Given the description of an element on the screen output the (x, y) to click on. 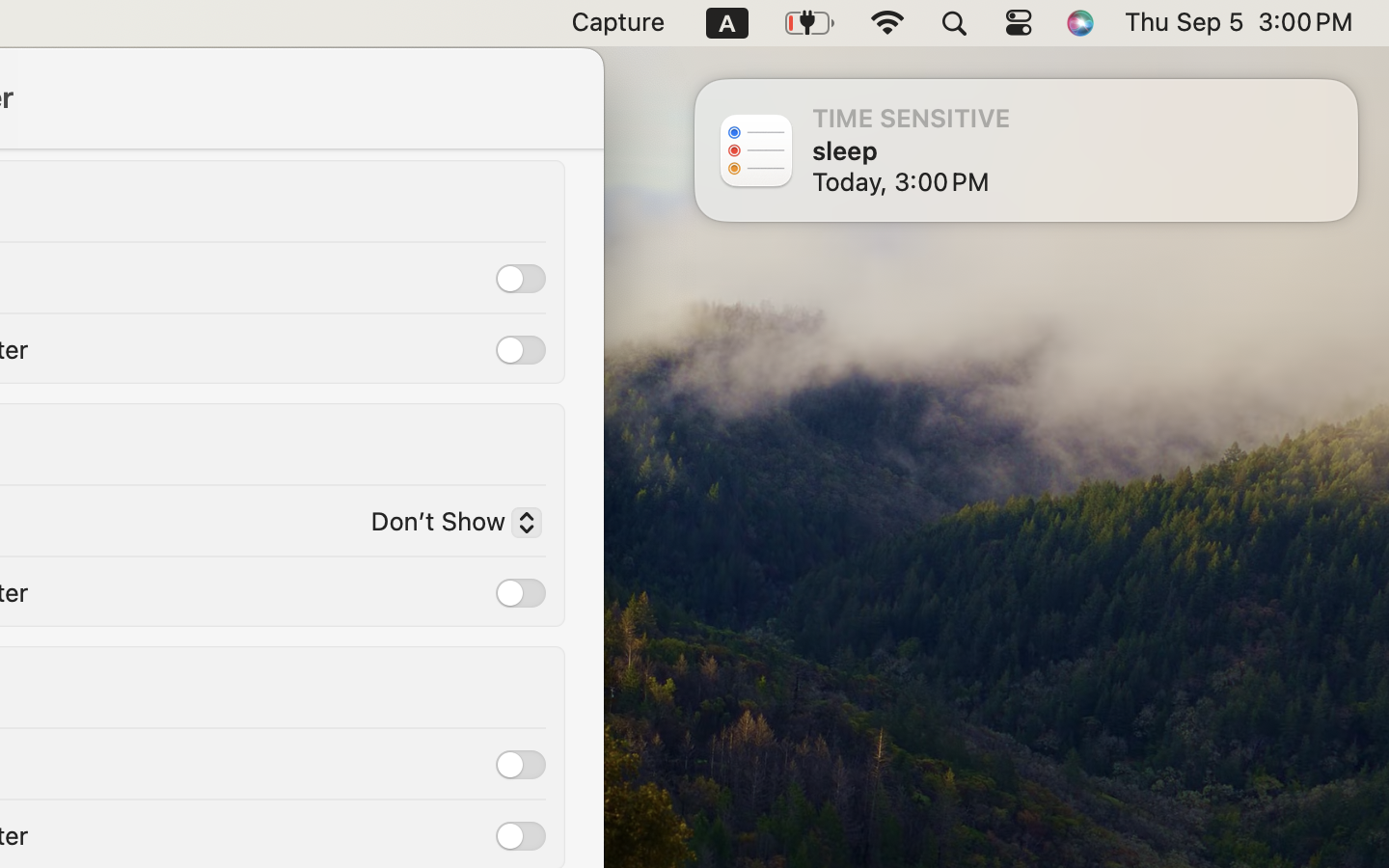
Don’t Show Element type: AXPopUpButton (448, 525)
